Given the description of an element on the screen output the (x, y) to click on. 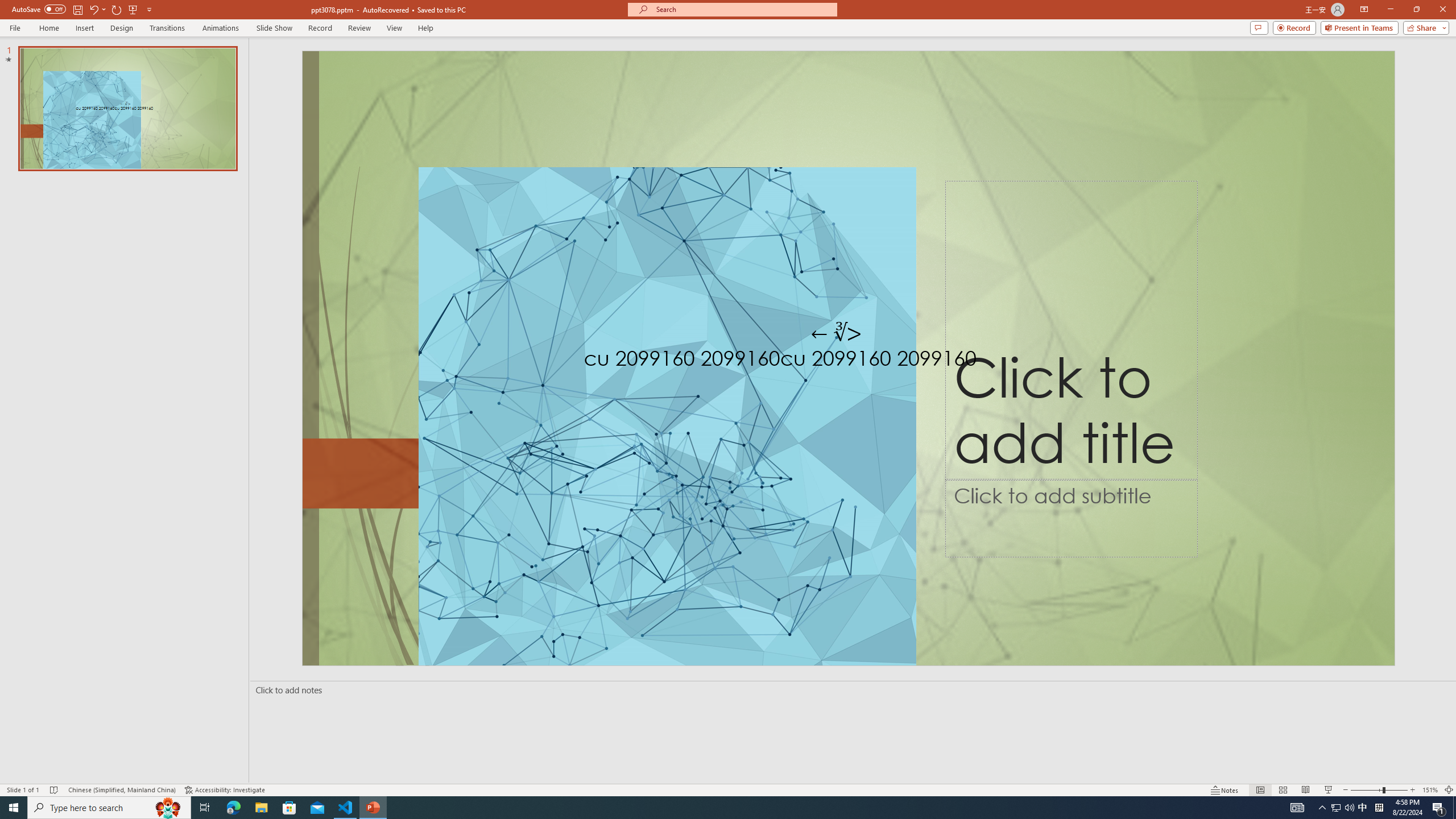
Zoom 151% (1430, 790)
